Given the description of an element on the screen output the (x, y) to click on. 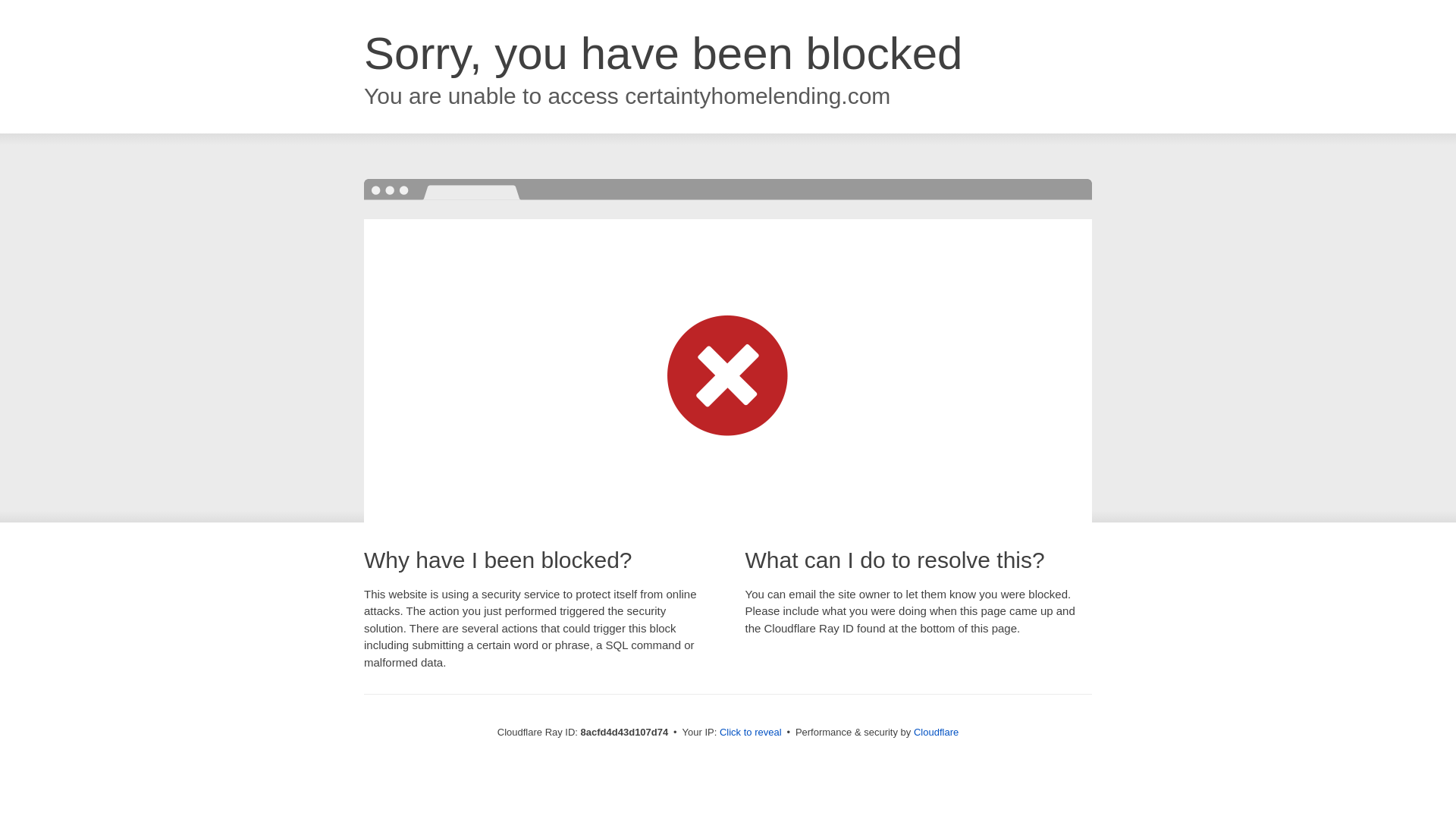
Click to reveal (750, 732)
Cloudflare (936, 731)
